Given the description of an element on the screen output the (x, y) to click on. 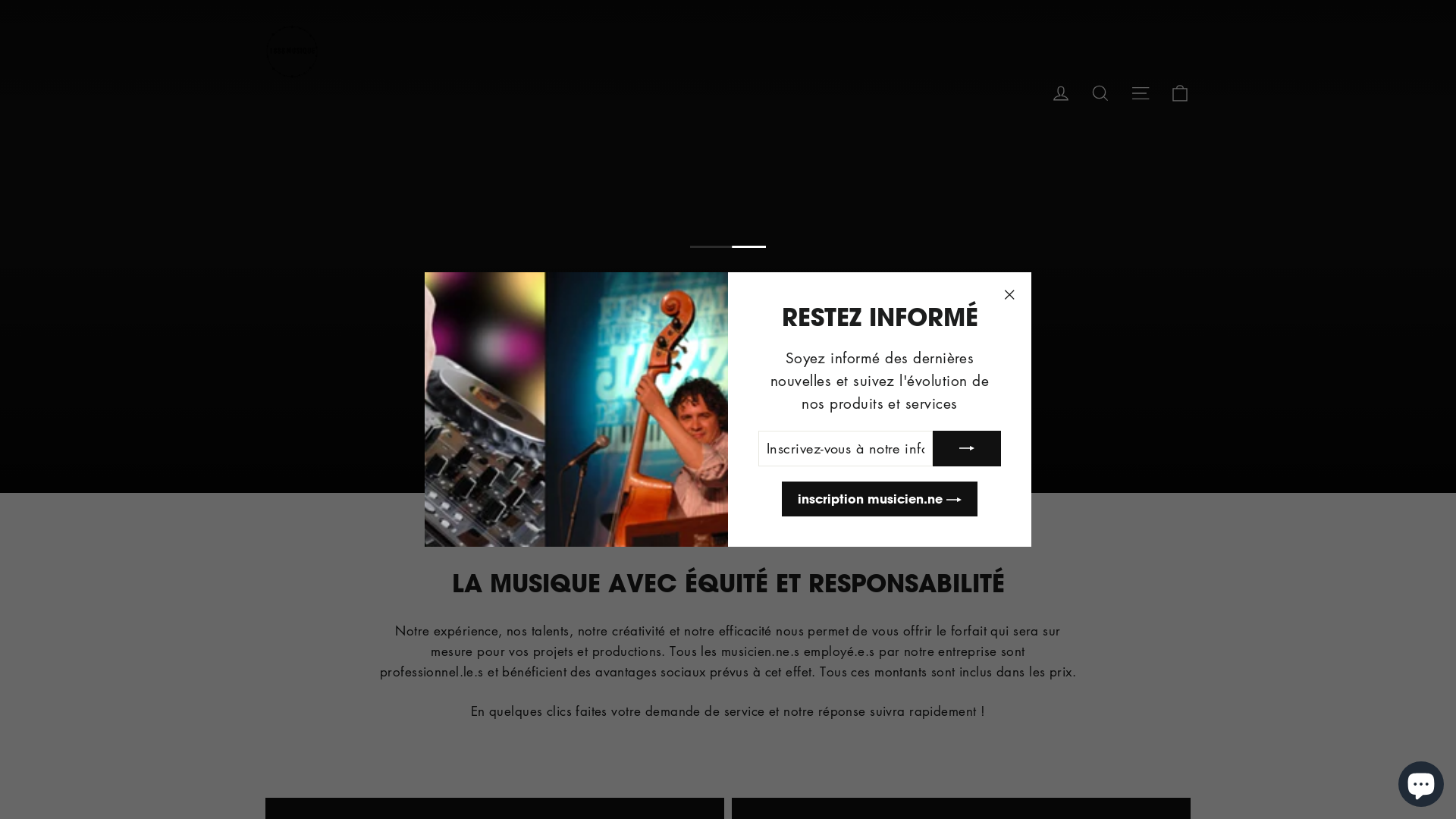
Chat de la boutique en ligne Shopify Element type: hover (1420, 780)
Navigation Element type: text (1140, 91)
inscription musicien.ne Element type: text (879, 499)
"Fermer (Esc)" Element type: text (1008, 294)
Rechercher Element type: text (1100, 91)
Panier Element type: text (1179, 91)
Se connecter Element type: text (1060, 91)
